Given the description of an element on the screen output the (x, y) to click on. 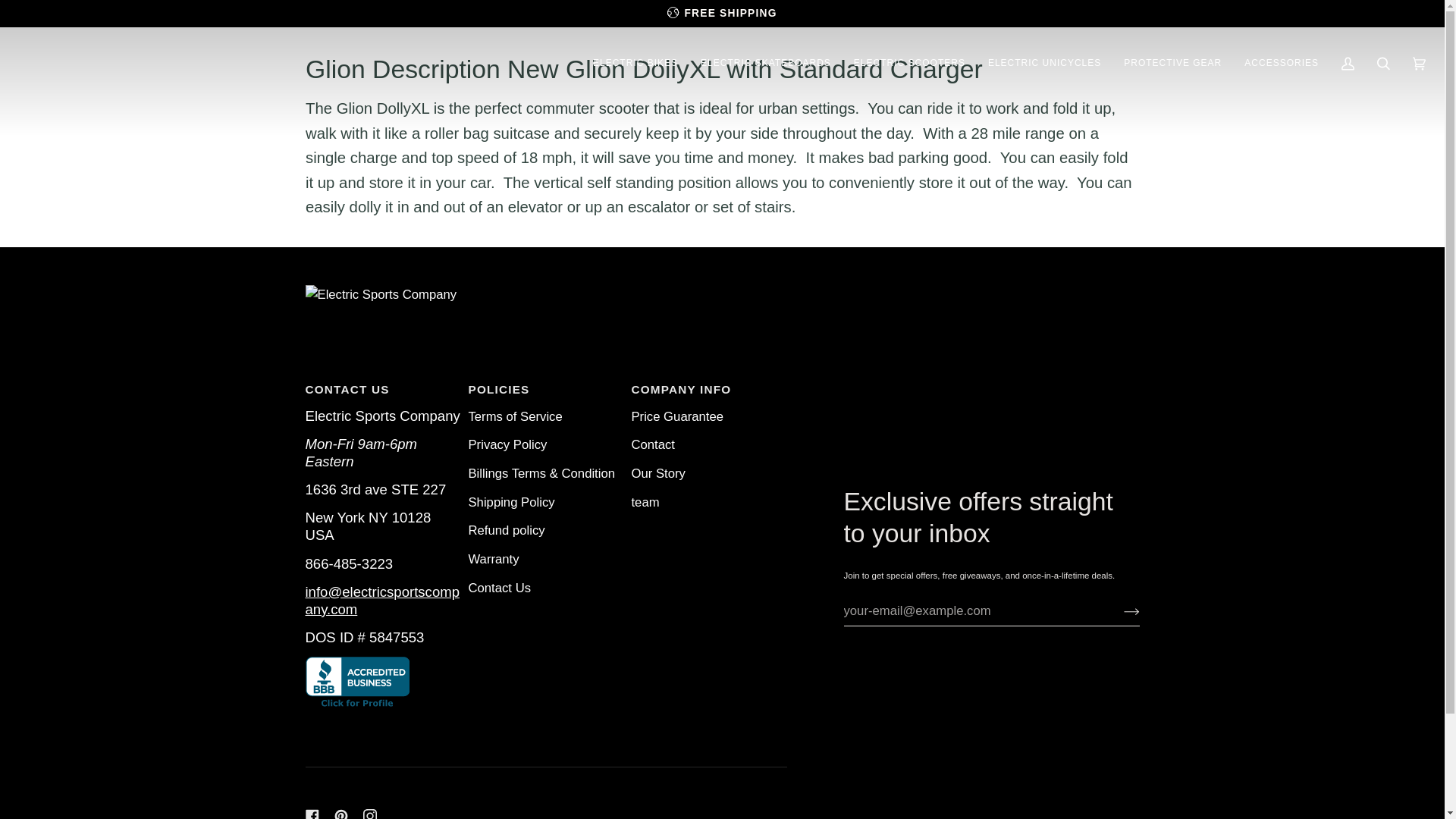
Facebook (311, 814)
ELECTRIC BIKES (634, 63)
ELECTRIC SCOOTERS (909, 63)
Pinterest (340, 814)
ELECTRIC SKATEBOARDS (765, 63)
Instagram (368, 814)
